Given the description of an element on the screen output the (x, y) to click on. 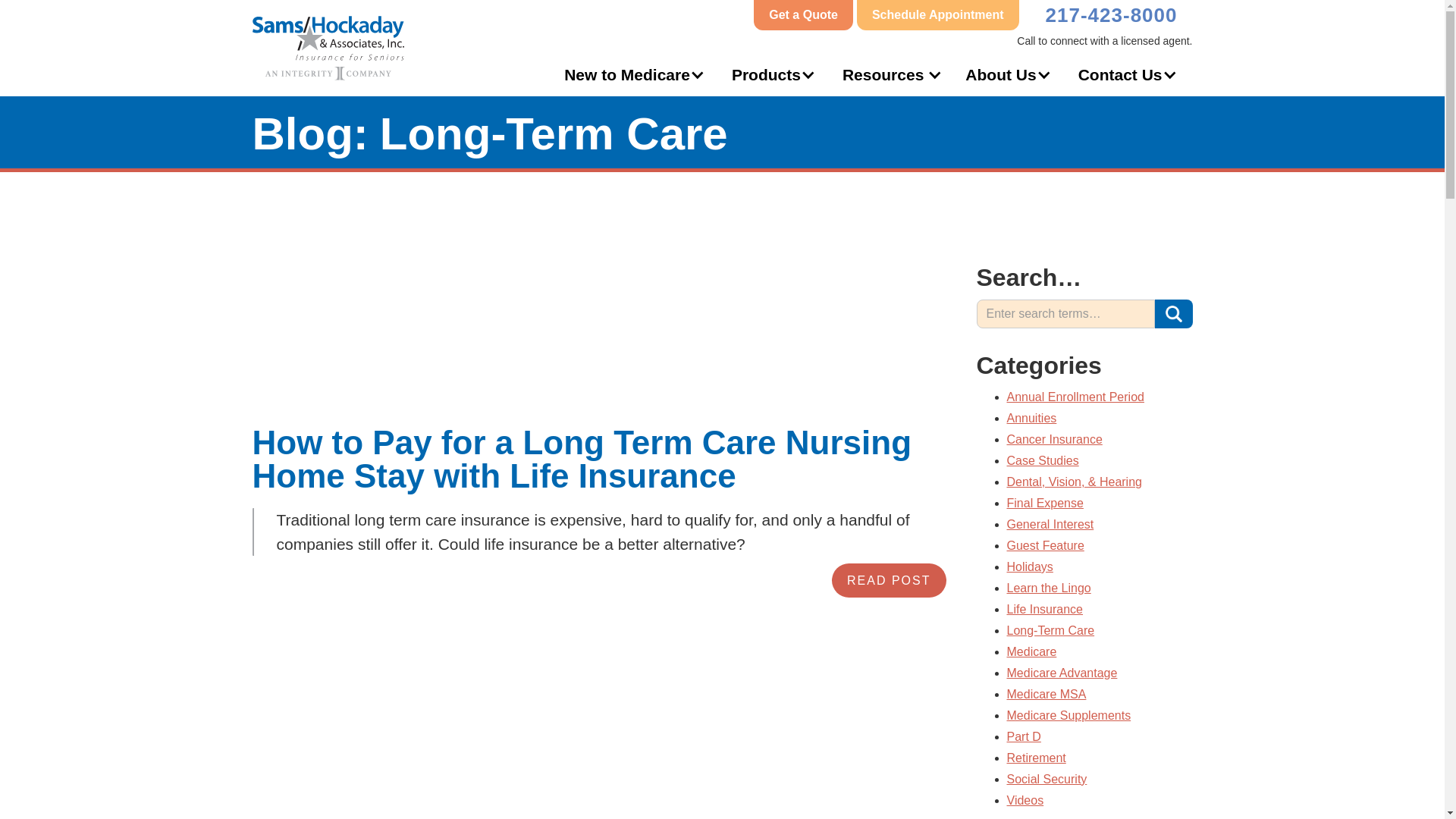
Get a Quote (803, 15)
READ POST (887, 580)
217-423-8000 (1115, 12)
Schedule Appointment (938, 15)
